Given the description of an element on the screen output the (x, y) to click on. 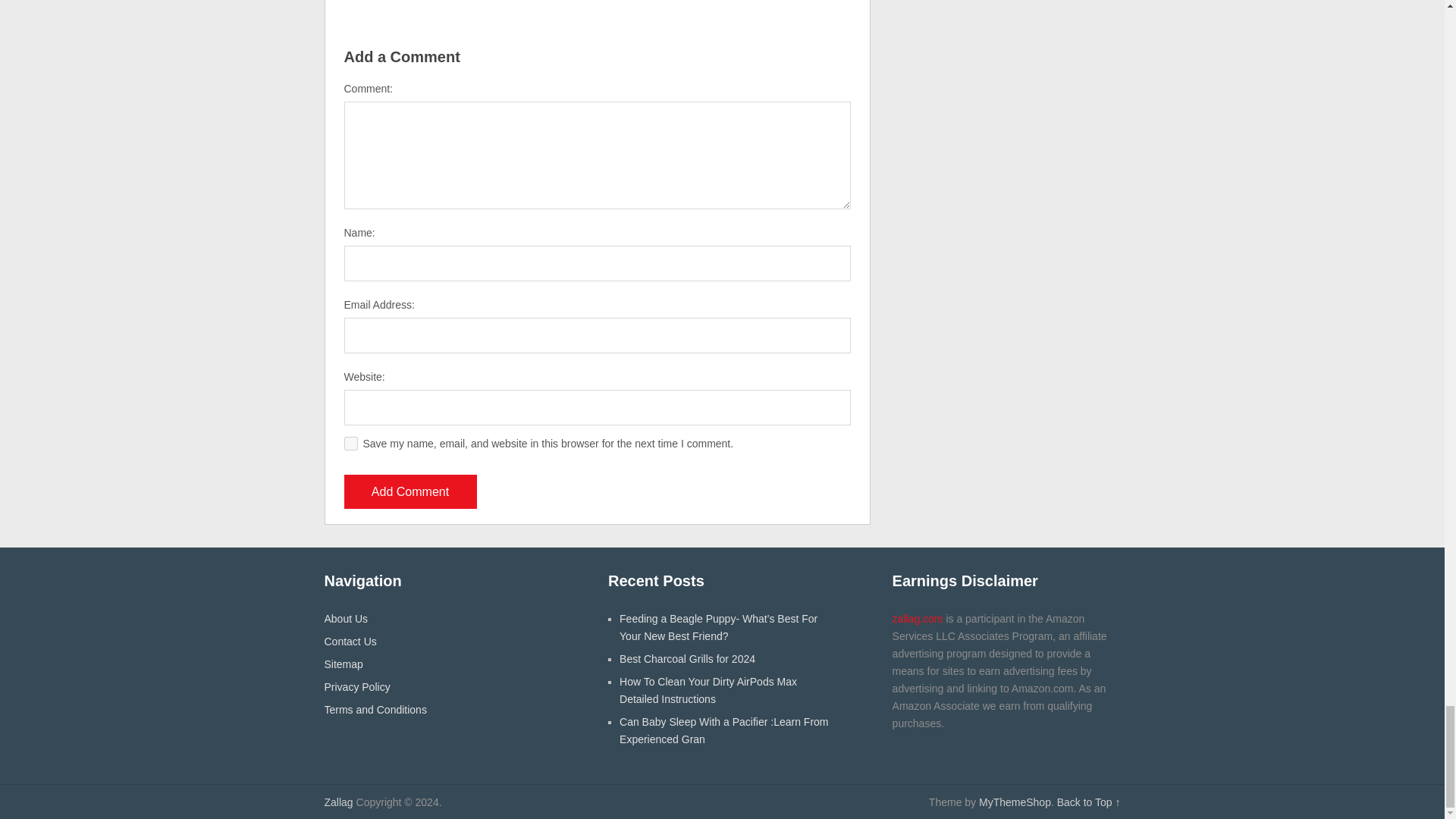
Add Comment (410, 491)
yes (350, 443)
Add Comment (410, 491)
